Given the description of an element on the screen output the (x, y) to click on. 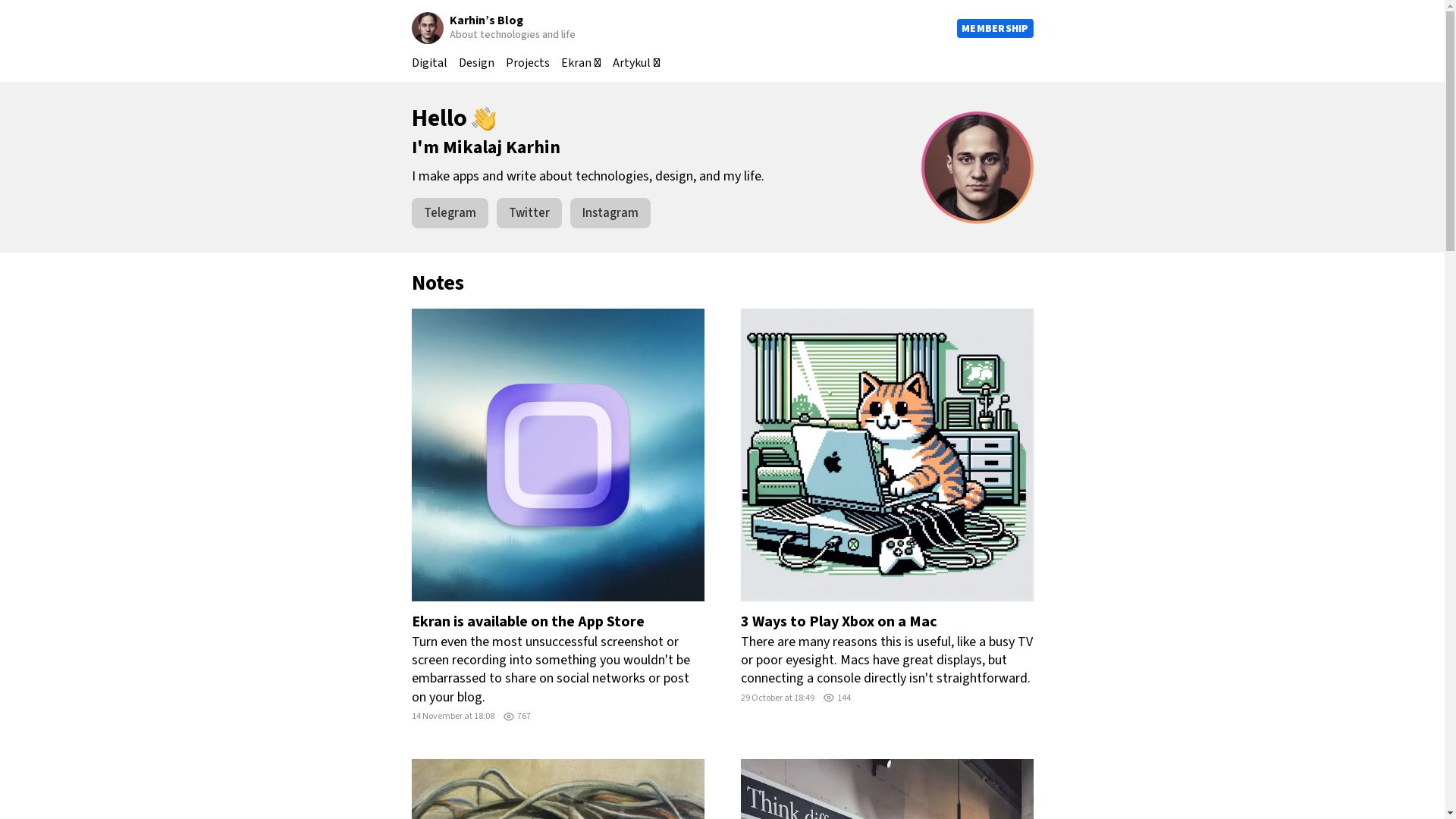
Design Element type: text (475, 63)
Instagram Element type: text (610, 212)
Ekran is available on the App Store Element type: text (557, 515)
3 Ways to Play Xbox on a Mac Element type: text (886, 506)
Digital Element type: text (428, 63)
Twitter Element type: text (528, 212)
MEMBERSHIP Element type: text (995, 27)
Telegram Element type: text (449, 212)
Projects Element type: text (527, 63)
